Given the description of an element on the screen output the (x, y) to click on. 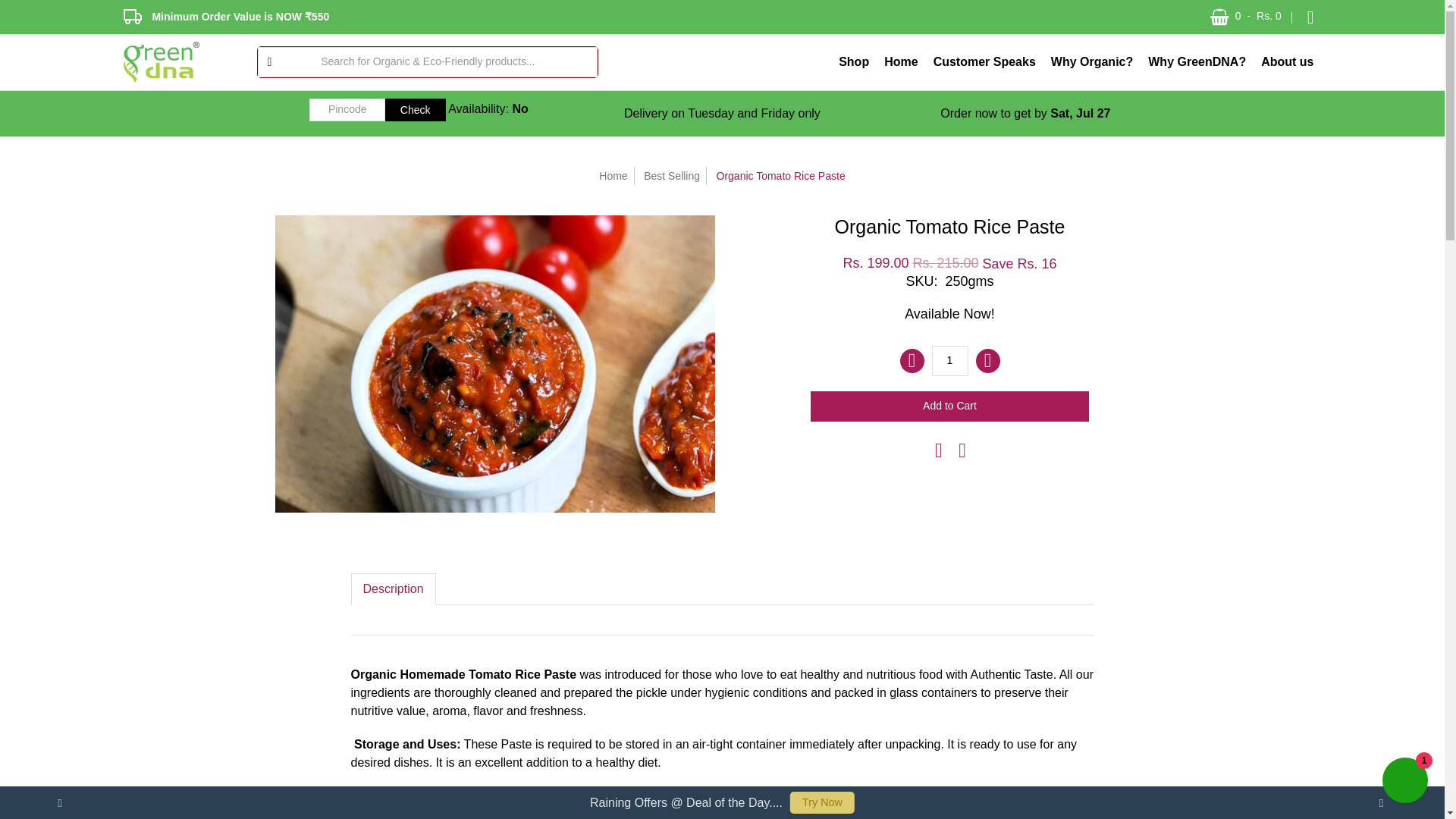
Add to Cart (949, 406)
shopping-basket (1218, 16)
Cart (1247, 17)
shopping-basket 0 - Rs. 0 (1247, 17)
Try Now (822, 802)
1 (949, 360)
Log in (1310, 16)
